Given the description of an element on the screen output the (x, y) to click on. 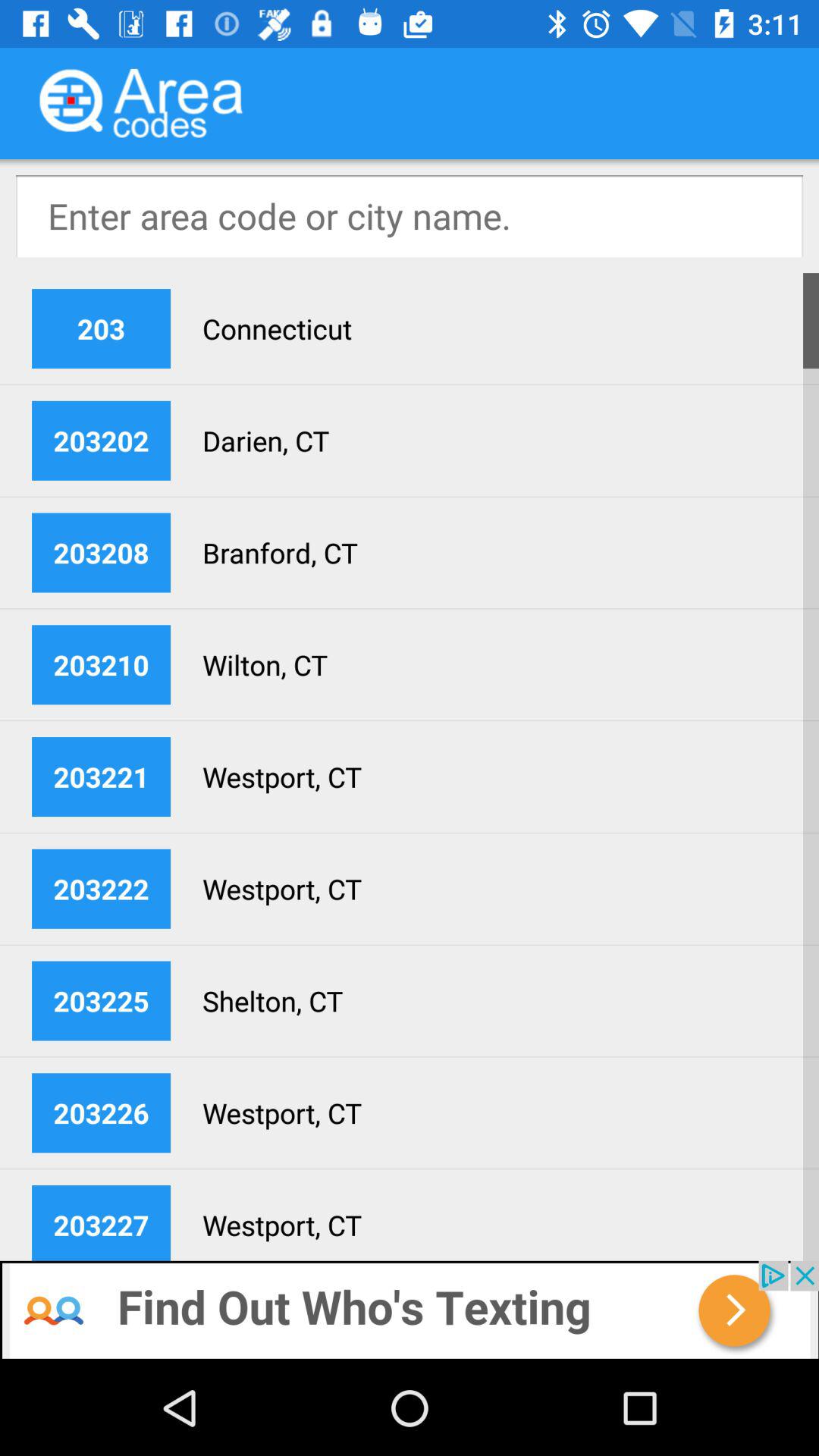
advertisement (409, 1310)
